Given the description of an element on the screen output the (x, y) to click on. 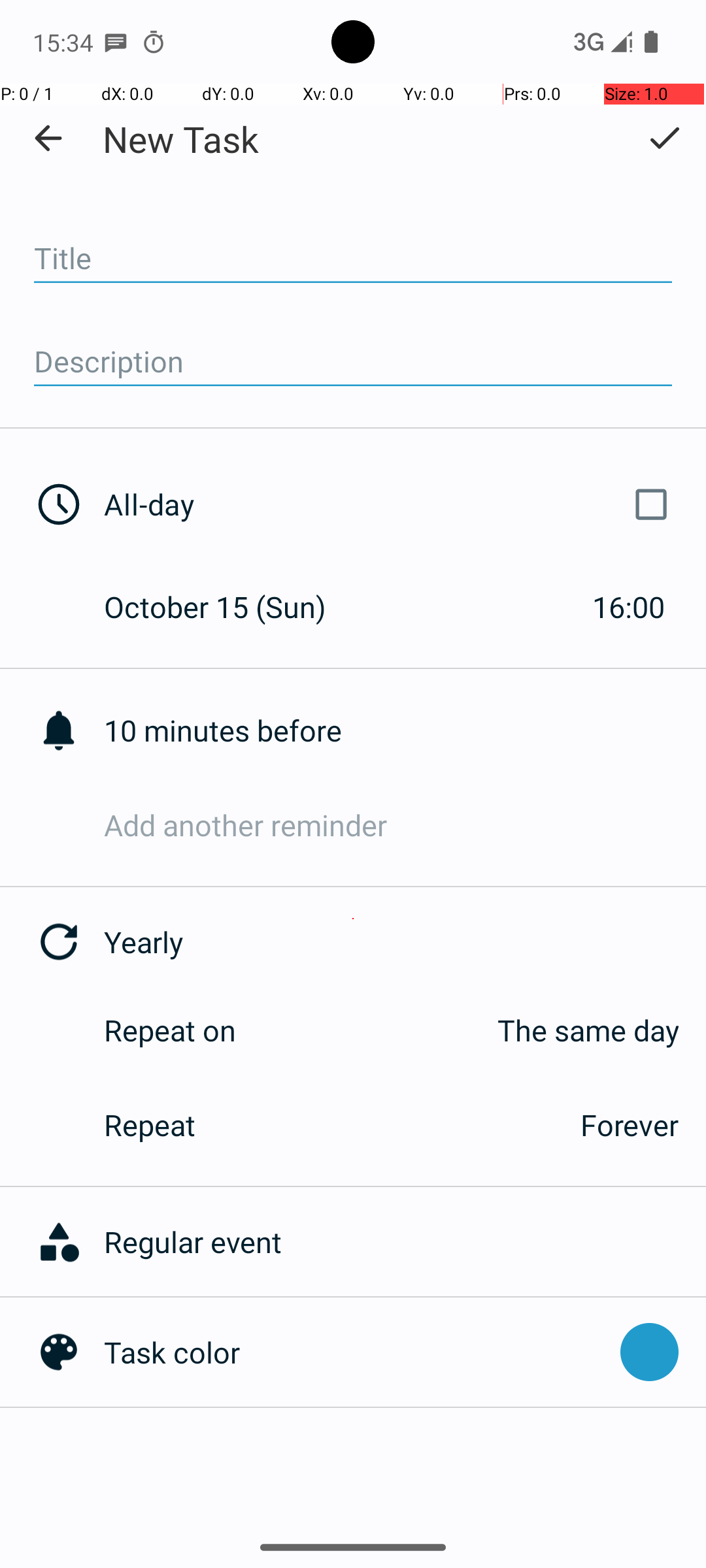
New Task Element type: android.widget.TextView (180, 138)
Yearly Element type: android.widget.TextView (404, 941)
Repeat on Element type: android.widget.TextView (169, 1029)
The same day Element type: android.widget.TextView (470, 1029)
Forever Element type: android.widget.TextView (629, 1124)
Task color Element type: android.widget.TextView (354, 1351)
